Given the description of an element on the screen output the (x, y) to click on. 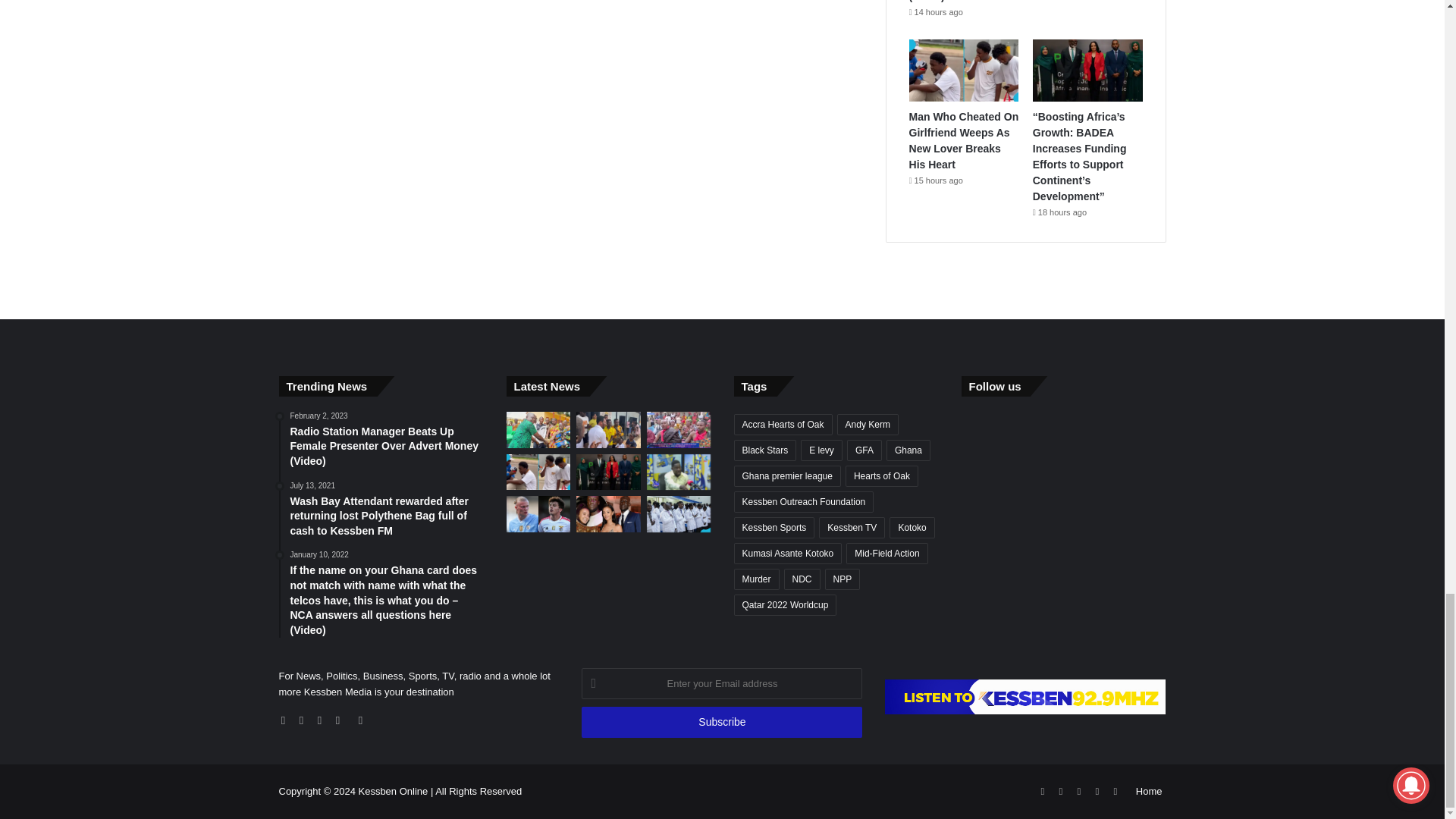
Subscribe (720, 721)
